Given the description of an element on the screen output the (x, y) to click on. 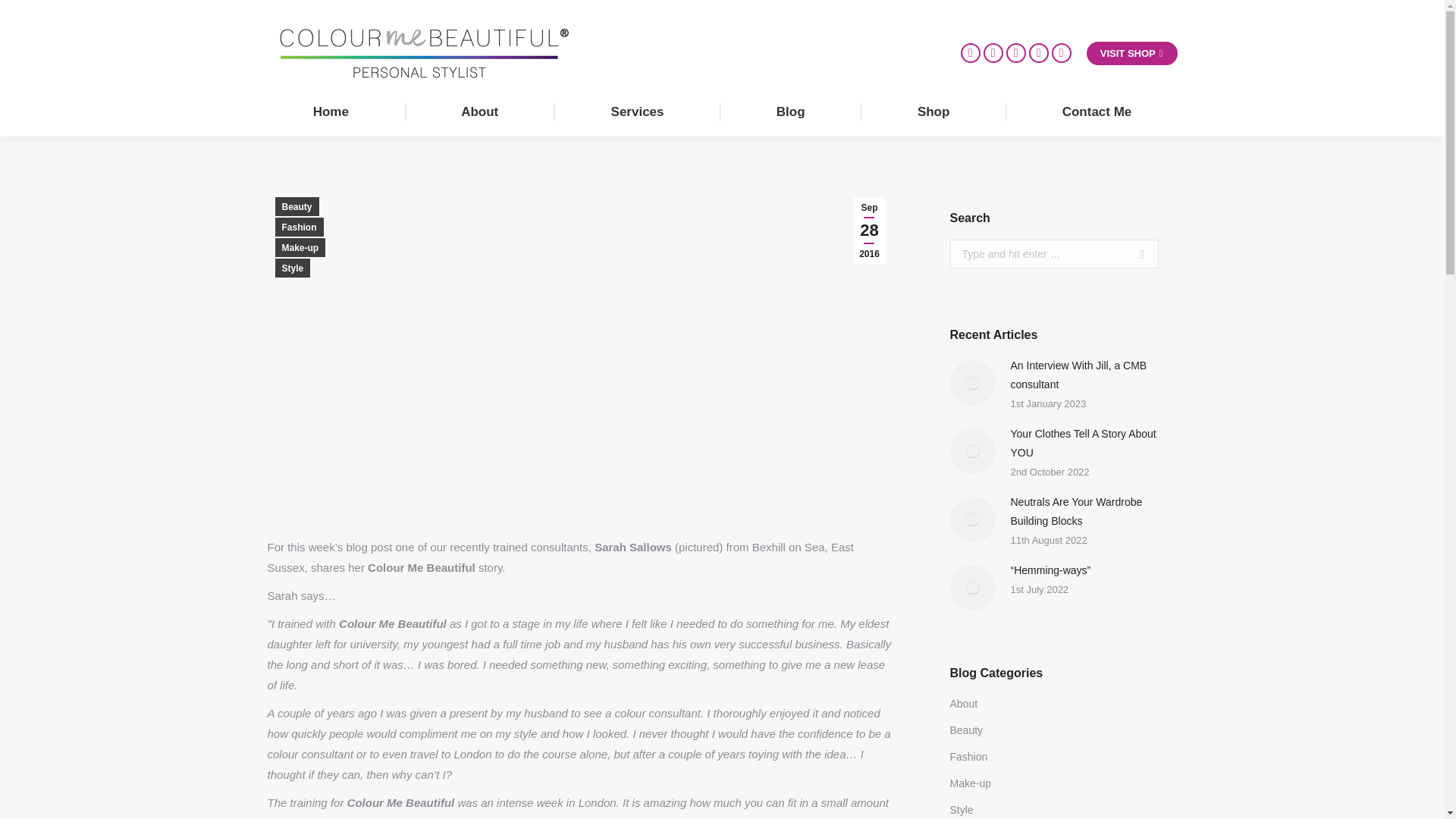
Make-up (299, 247)
Twitter (969, 53)
YouTube (1038, 53)
Facebook (1016, 53)
Facebook (1016, 53)
YouTube (1038, 53)
Go! (1136, 253)
Services (636, 111)
Contact Me (1096, 111)
Pinterest (993, 53)
